Given the description of an element on the screen output the (x, y) to click on. 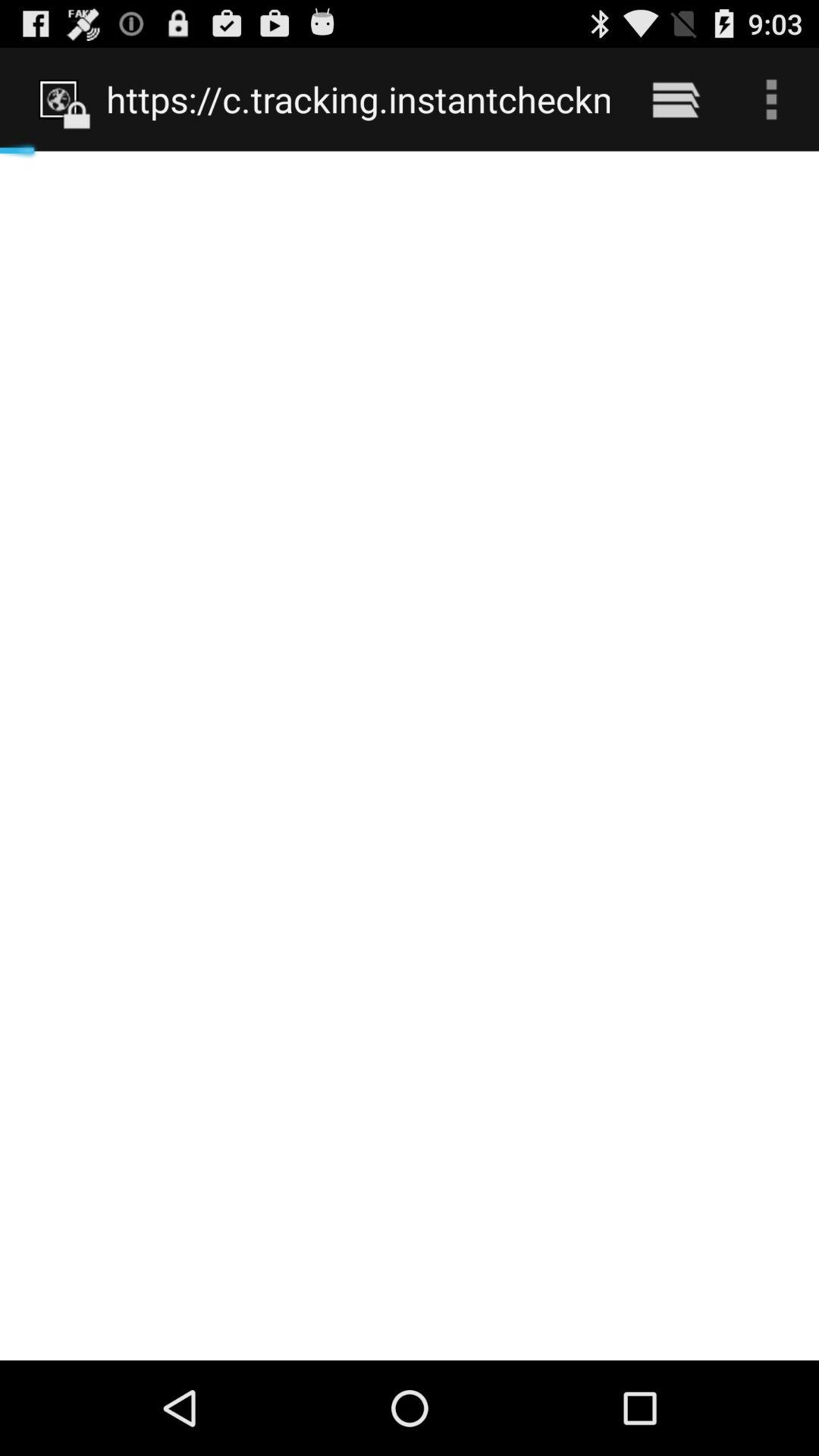
tap the icon below https www phone (409, 755)
